Given the description of an element on the screen output the (x, y) to click on. 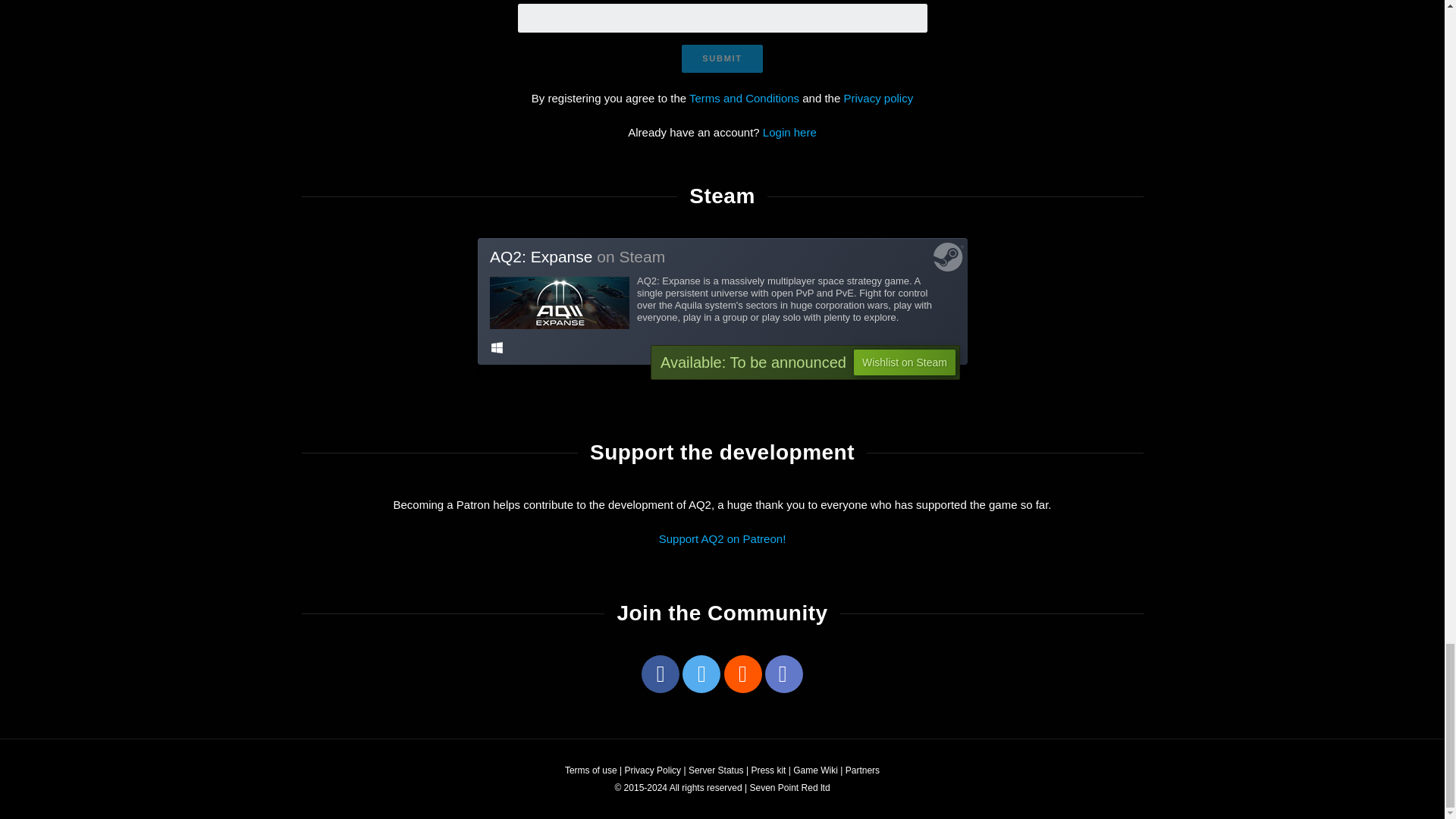
Terms and Conditions (743, 97)
Server Status (716, 769)
Privacy Policy (652, 769)
SUBMIT (721, 58)
Privacy policy (877, 97)
Game Wiki (815, 769)
Partners (862, 769)
Terms of use (590, 769)
Login here (789, 131)
Support AQ2 on Patreon! (722, 538)
